Given the description of an element on the screen output the (x, y) to click on. 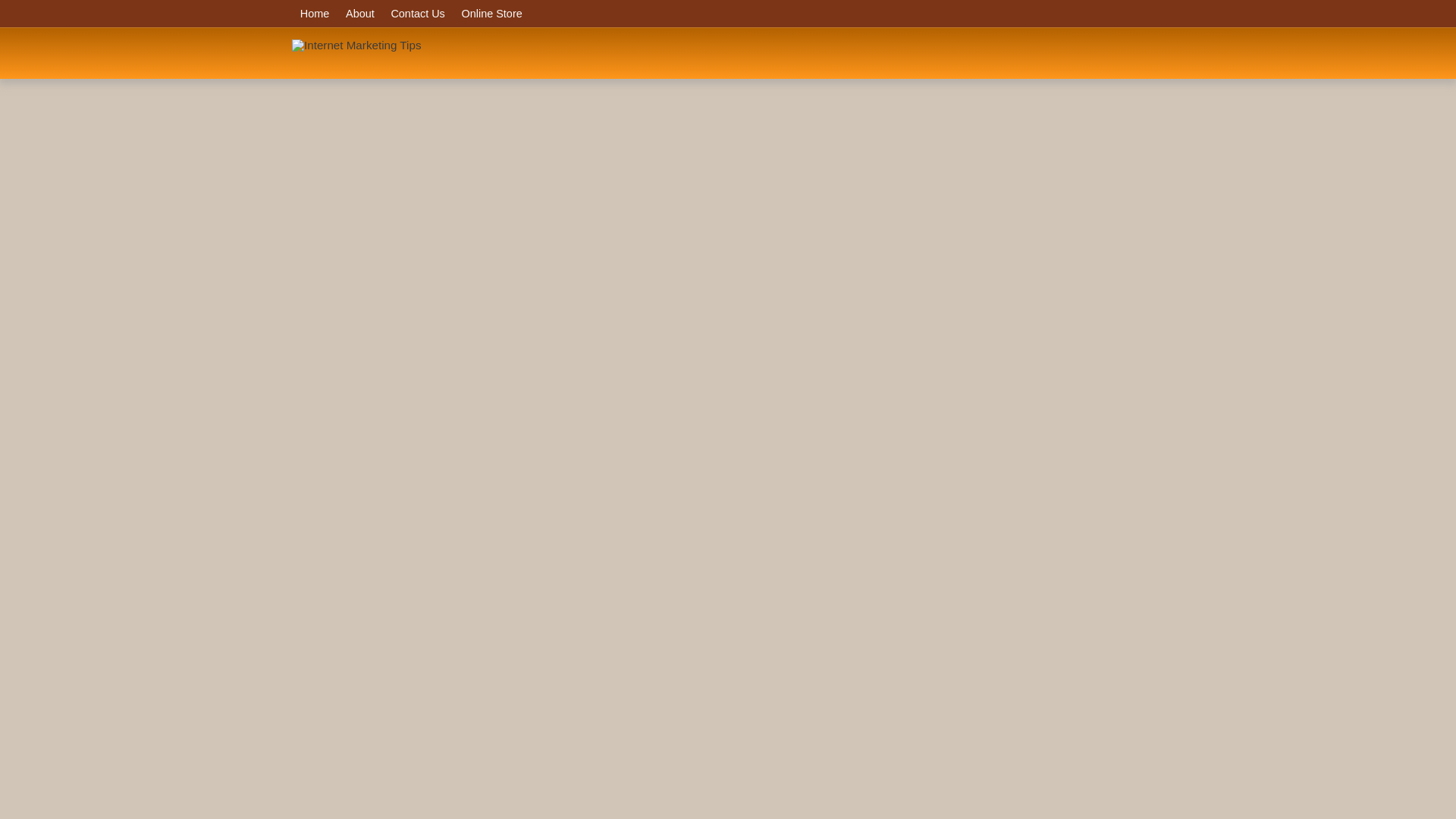
Home (314, 13)
Internet Marketing Tips (356, 44)
About (359, 13)
Contact Us (417, 13)
Online Store (491, 13)
